Given the description of an element on the screen output the (x, y) to click on. 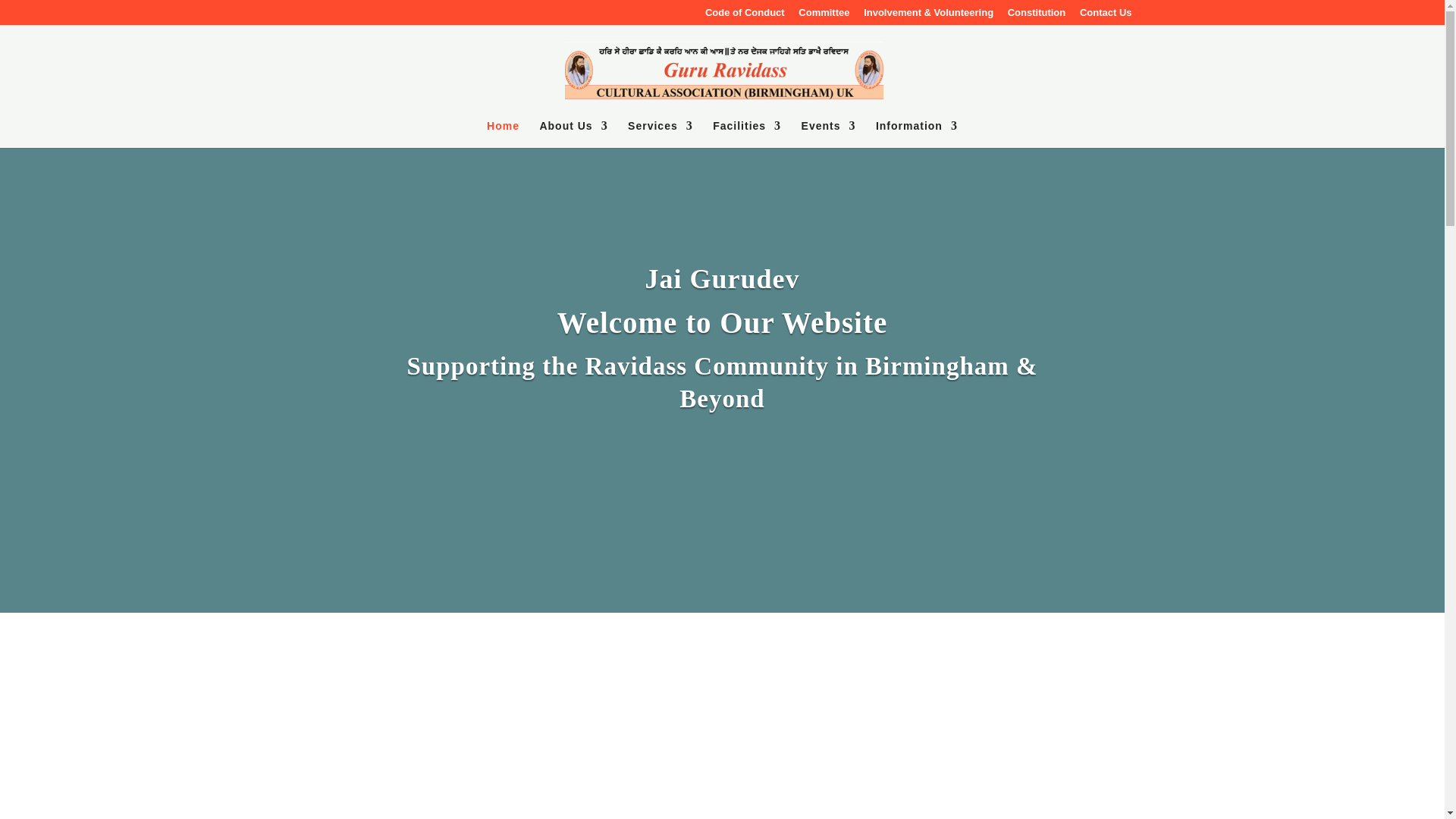
Code of Conduct (744, 16)
Home (502, 133)
Constitution (1036, 16)
Contact Us (1106, 16)
Events (829, 133)
About Us (572, 133)
Facilities (746, 133)
Information (917, 133)
Services (660, 133)
Committee (822, 16)
